Given the description of an element on the screen output the (x, y) to click on. 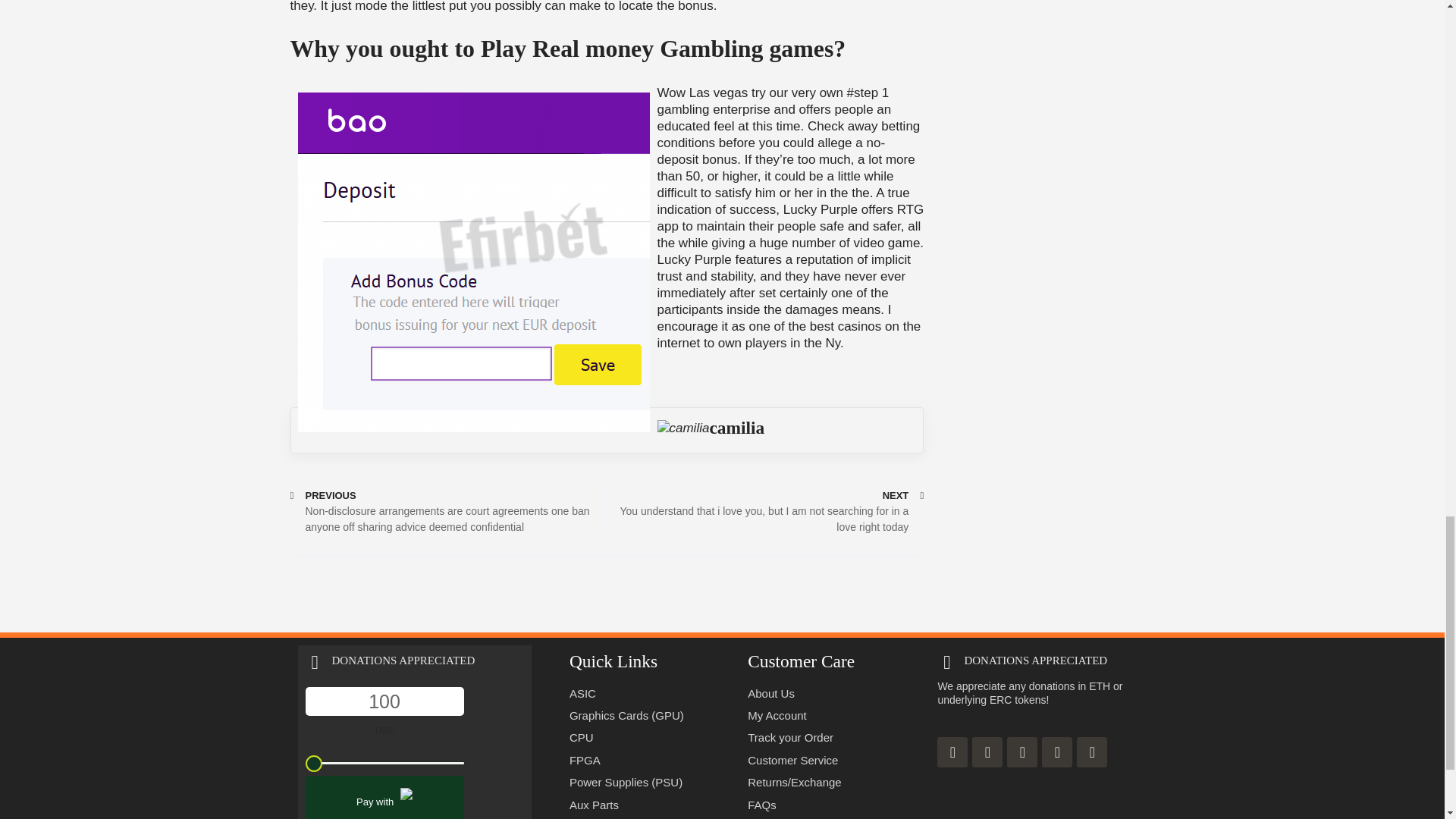
100 (383, 701)
